Given the description of an element on the screen output the (x, y) to click on. 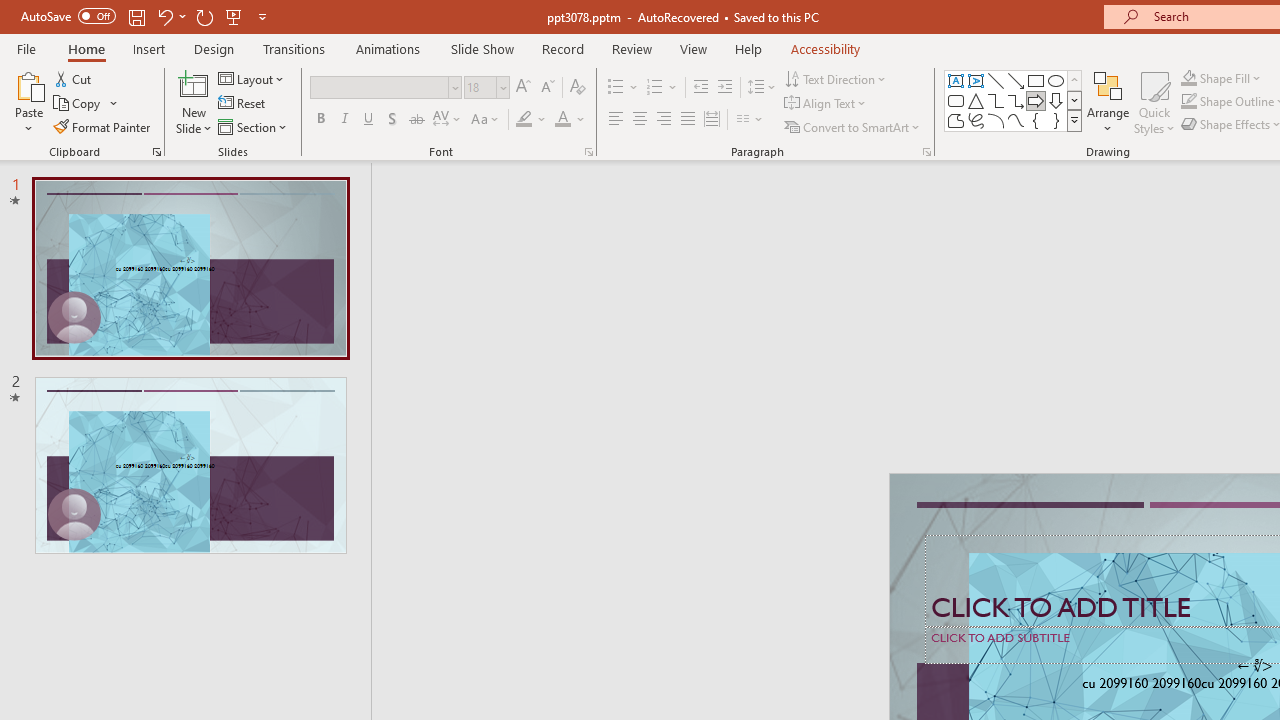
Change Case (486, 119)
Underline (369, 119)
